Given the description of an element on the screen output the (x, y) to click on. 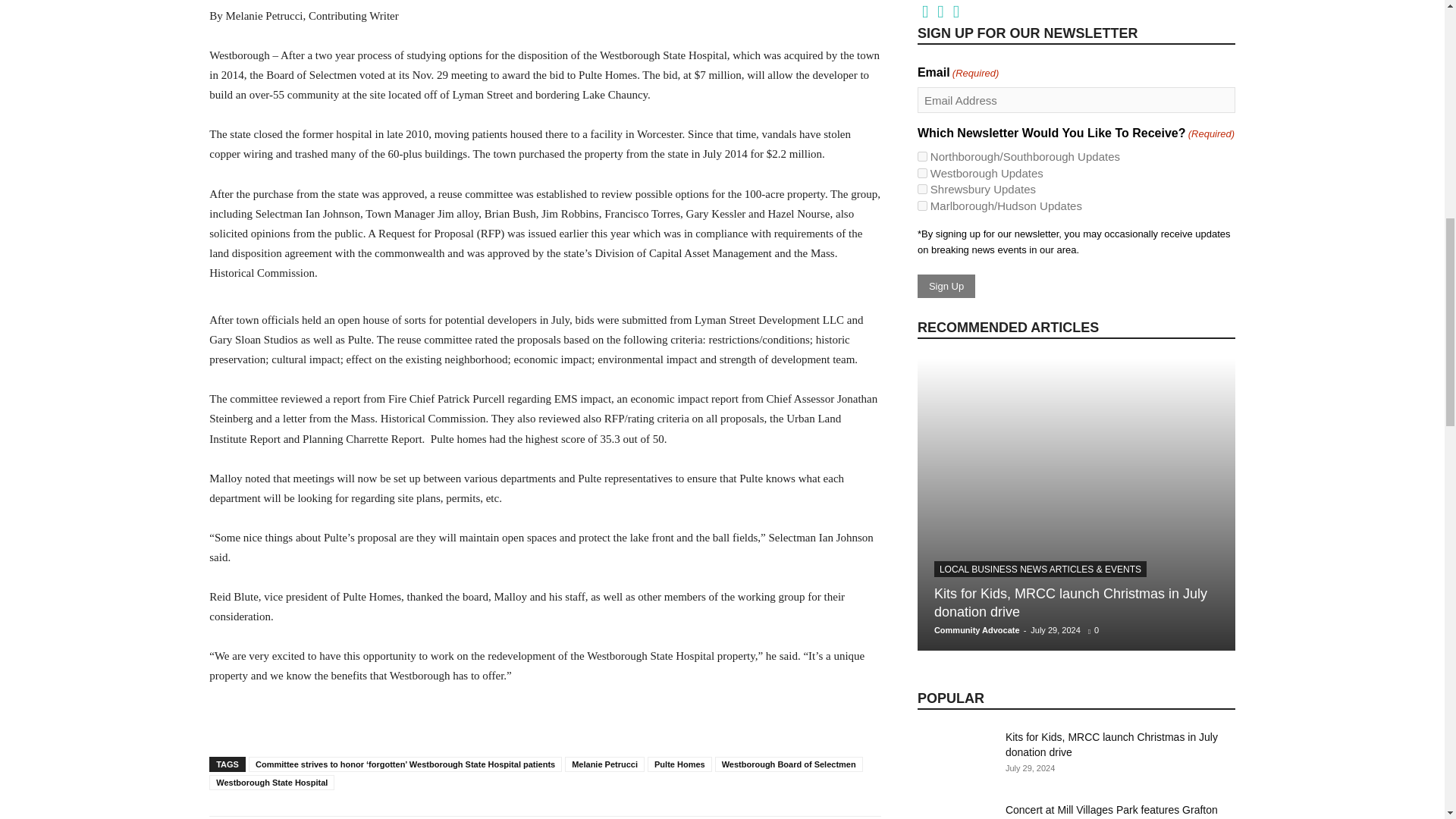
Westborough Updates (922, 173)
Shrewsbury Updates (922, 189)
Sign Up (946, 286)
